Given the description of an element on the screen output the (x, y) to click on. 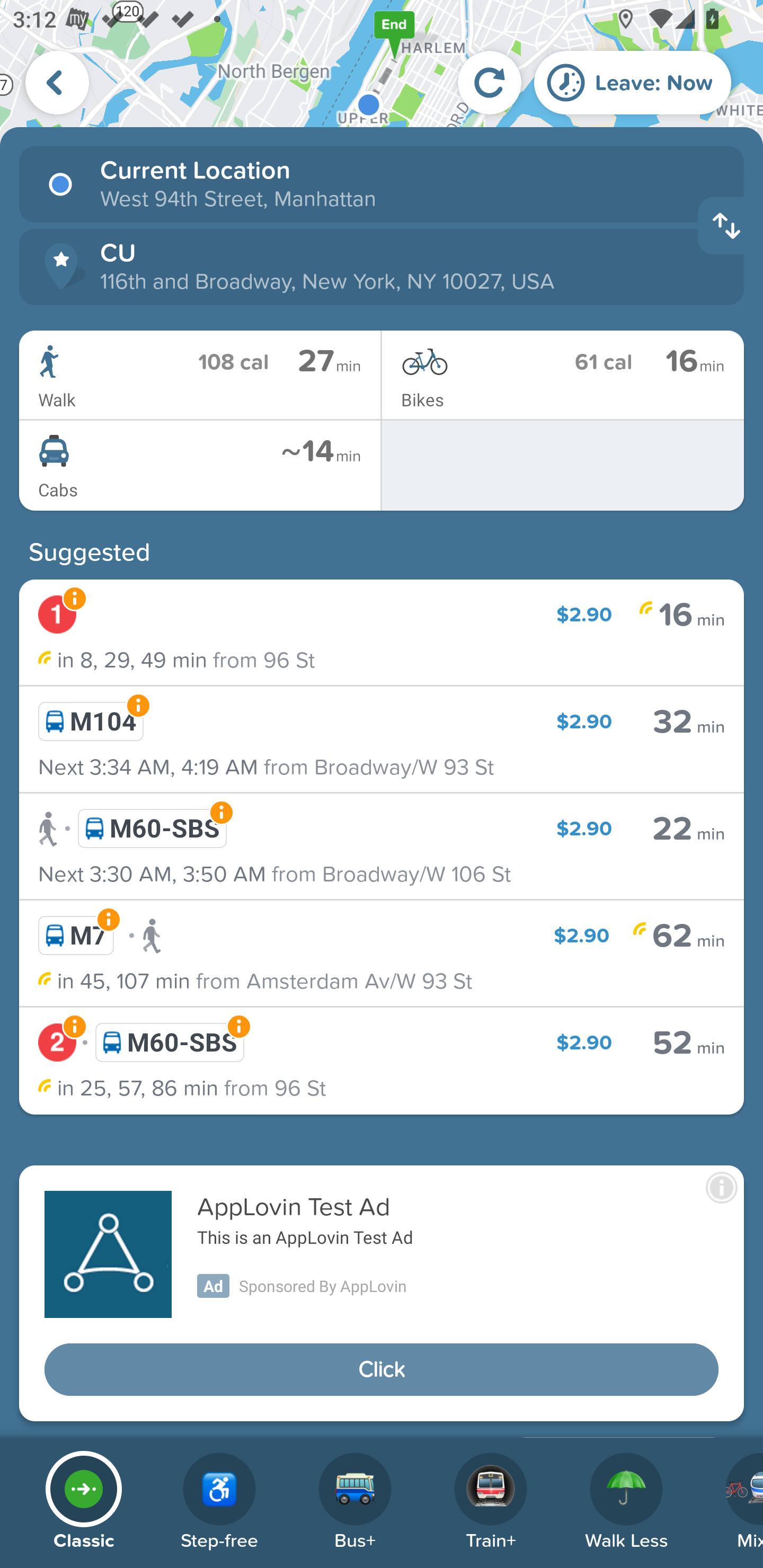
Leave: Now (632, 81)
